Given the description of an element on the screen output the (x, y) to click on. 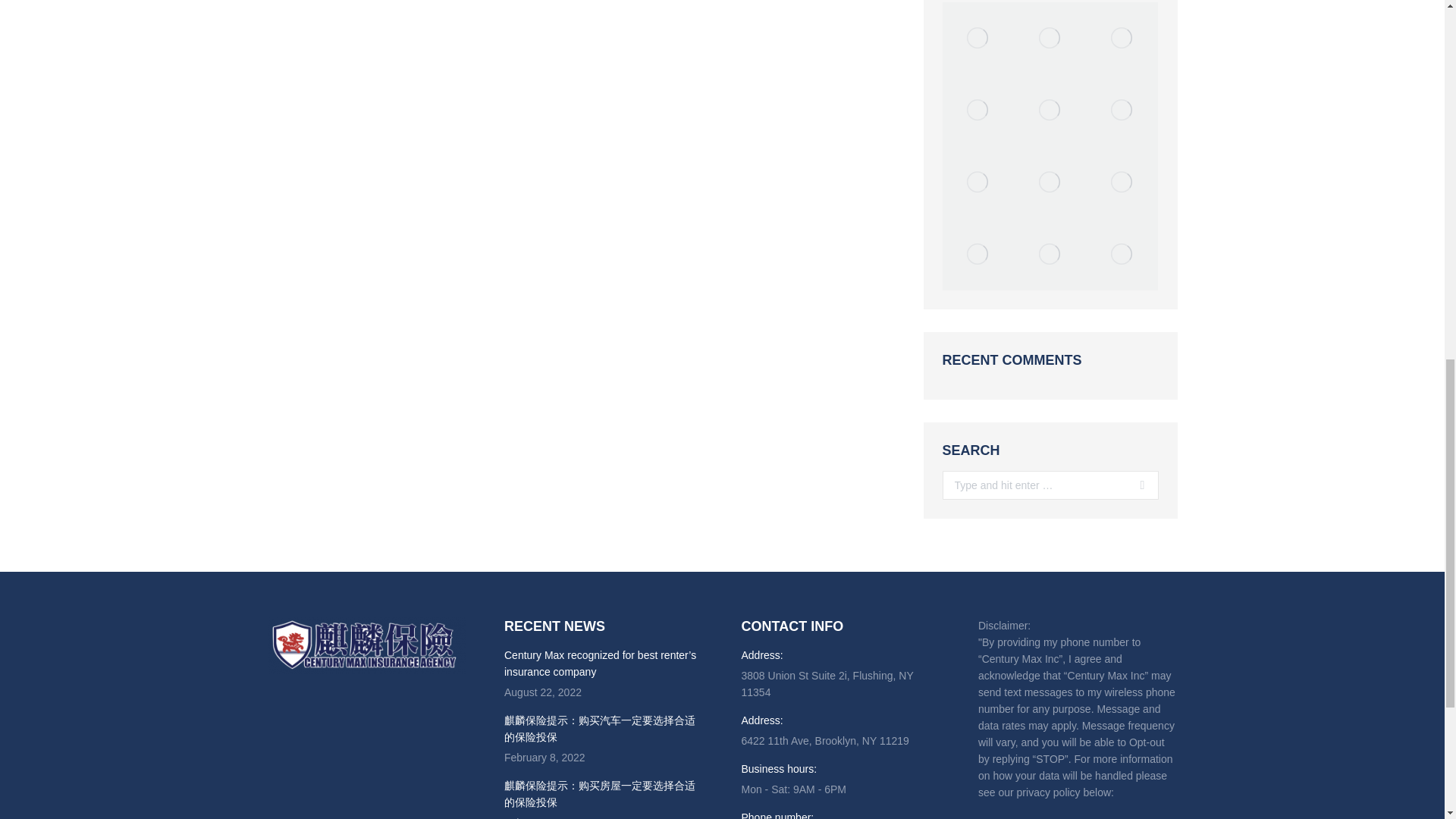
office logo (1121, 38)
Go! (1137, 484)
Go! (1137, 484)
